Given the description of an element on the screen output the (x, y) to click on. 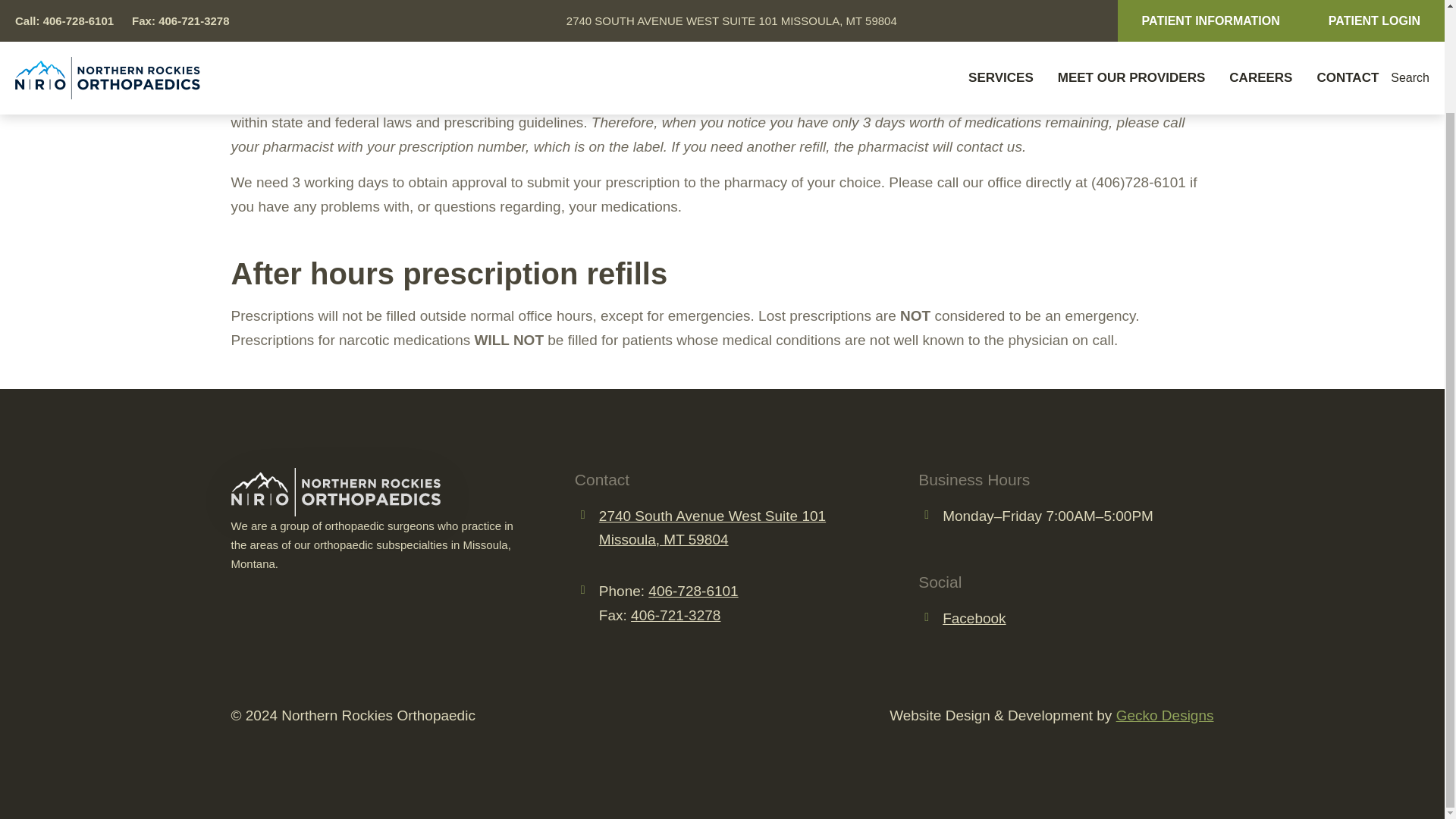
406-721-3278 (711, 527)
Gecko Designs (675, 615)
Facebook (1165, 715)
406-728-6101 (974, 618)
